Given the description of an element on the screen output the (x, y) to click on. 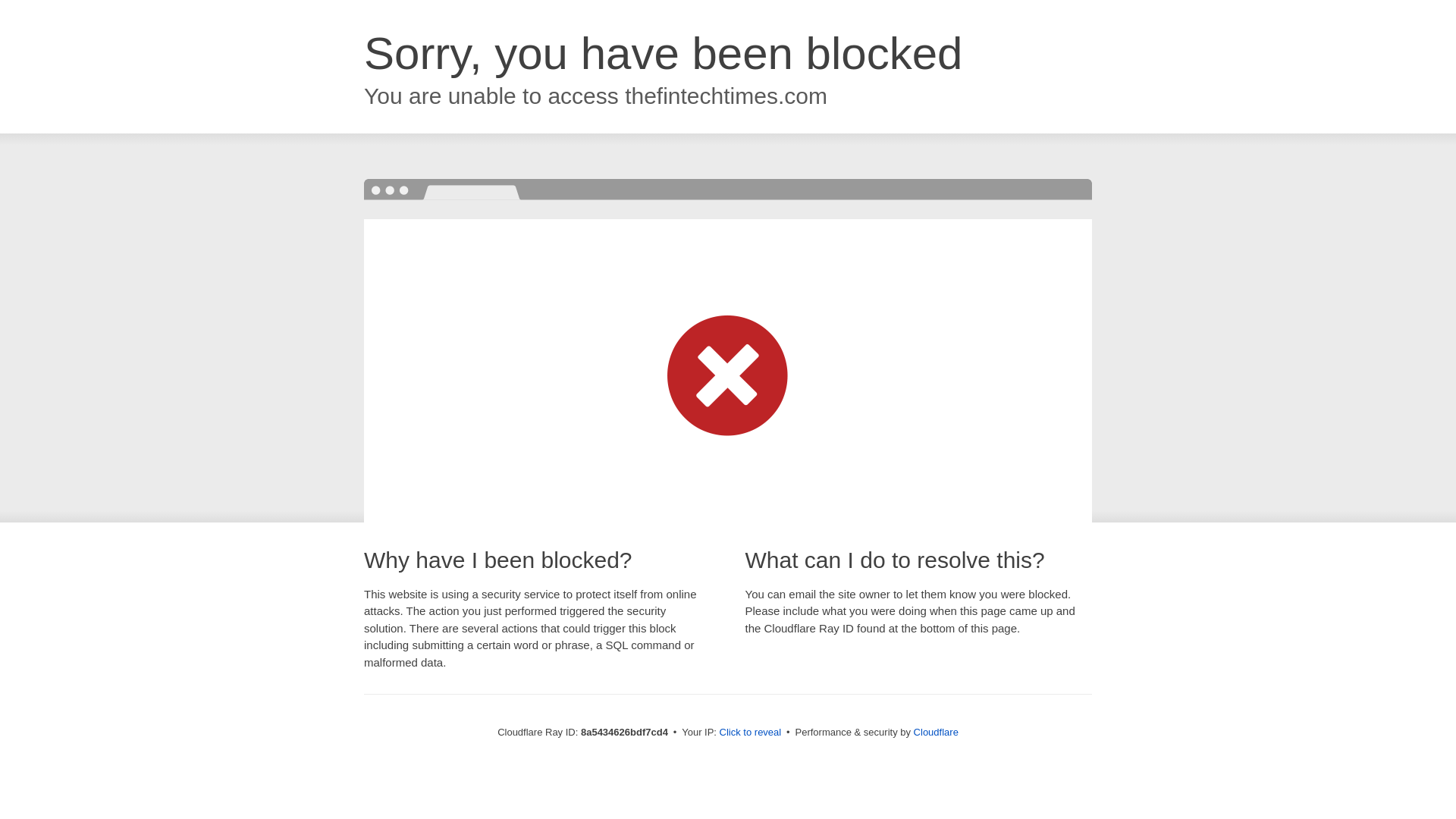
Cloudflare (936, 731)
Click to reveal (750, 732)
